Given the description of an element on the screen output the (x, y) to click on. 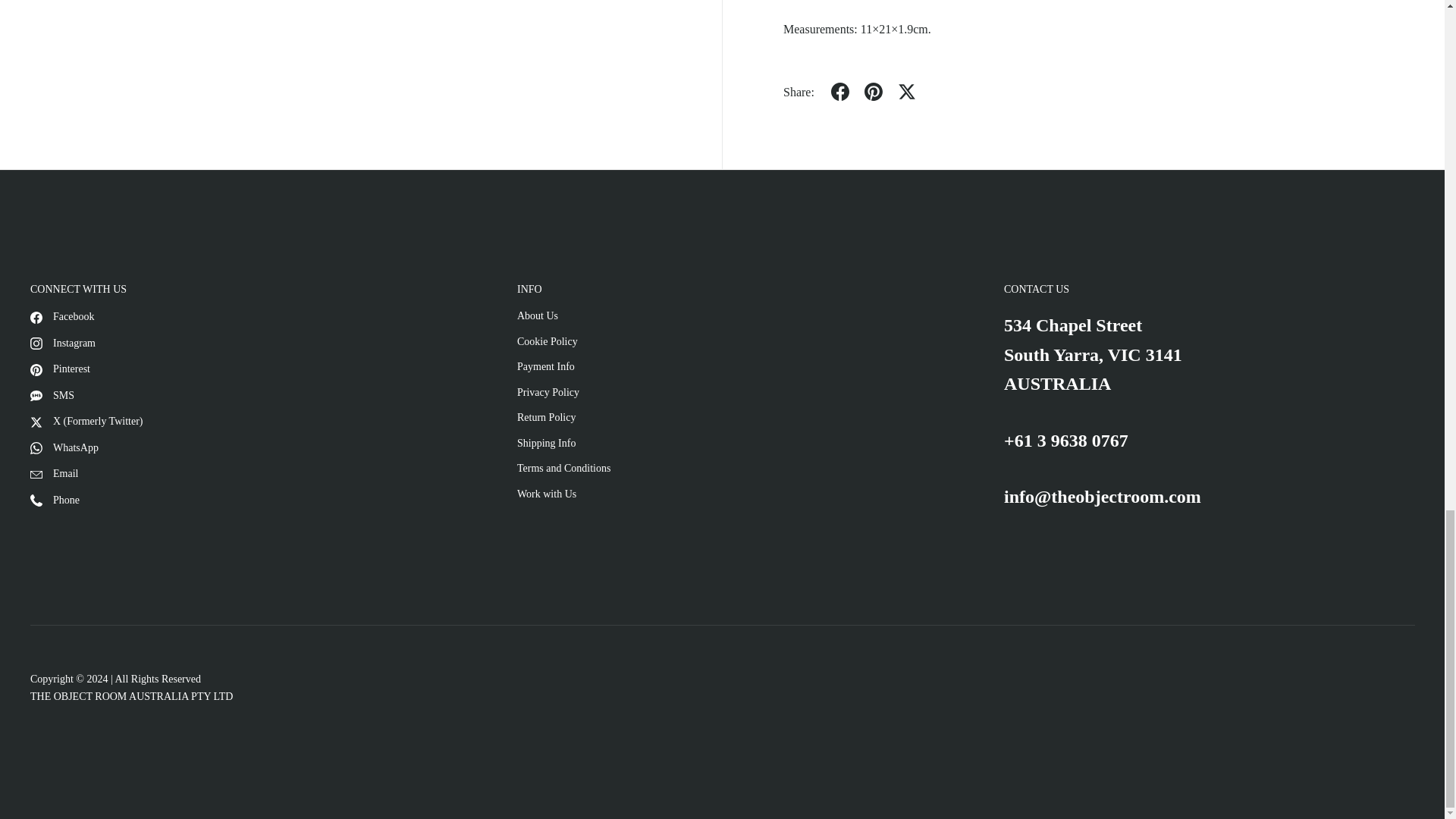
CALL US (1066, 440)
VISIT US (1093, 354)
EMAIL US (1102, 496)
